Given the description of an element on the screen output the (x, y) to click on. 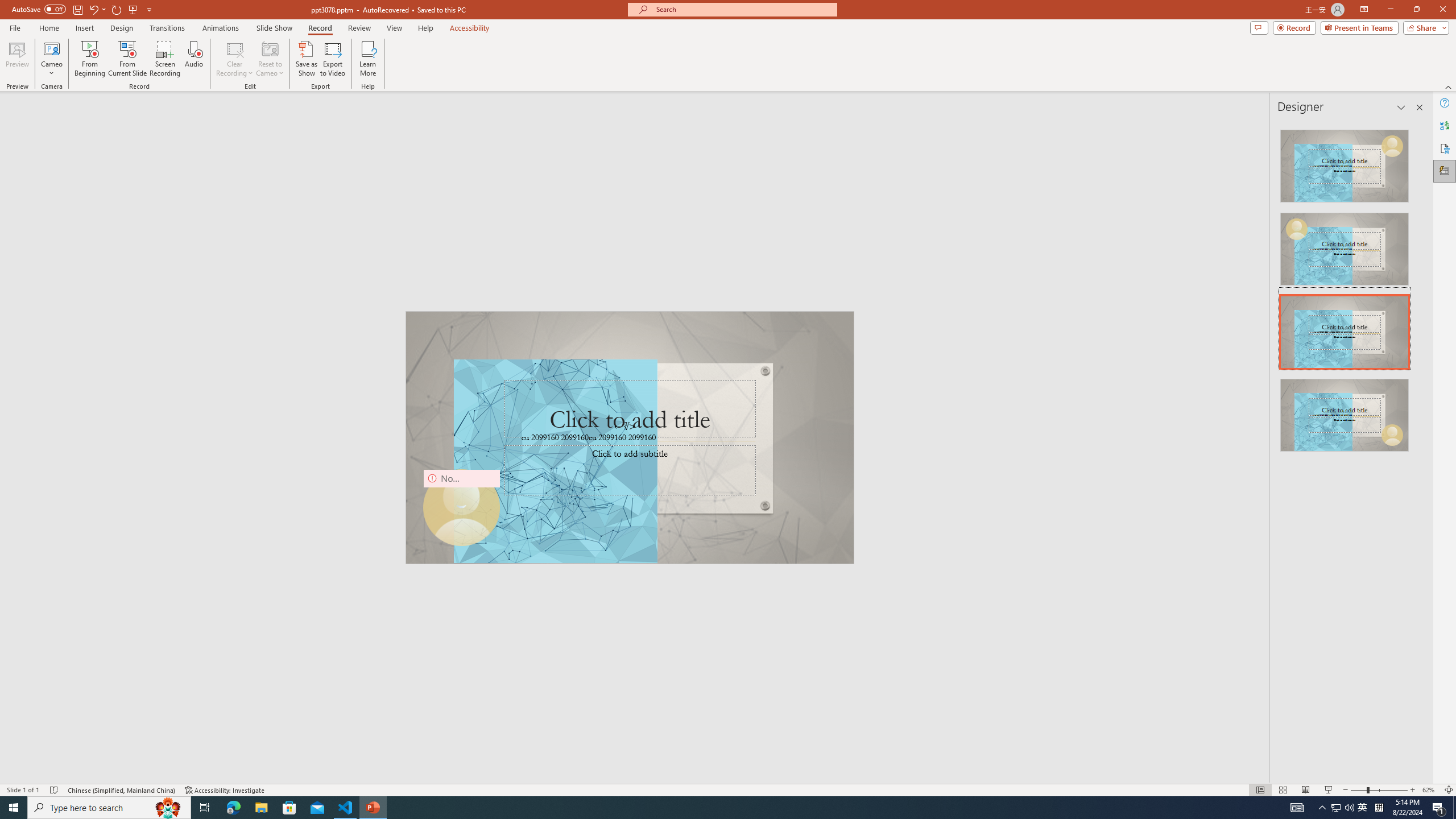
An abstract genetic concept (629, 437)
From Current Slide... (127, 58)
Reset to Cameo (269, 58)
